Given the description of an element on the screen output the (x, y) to click on. 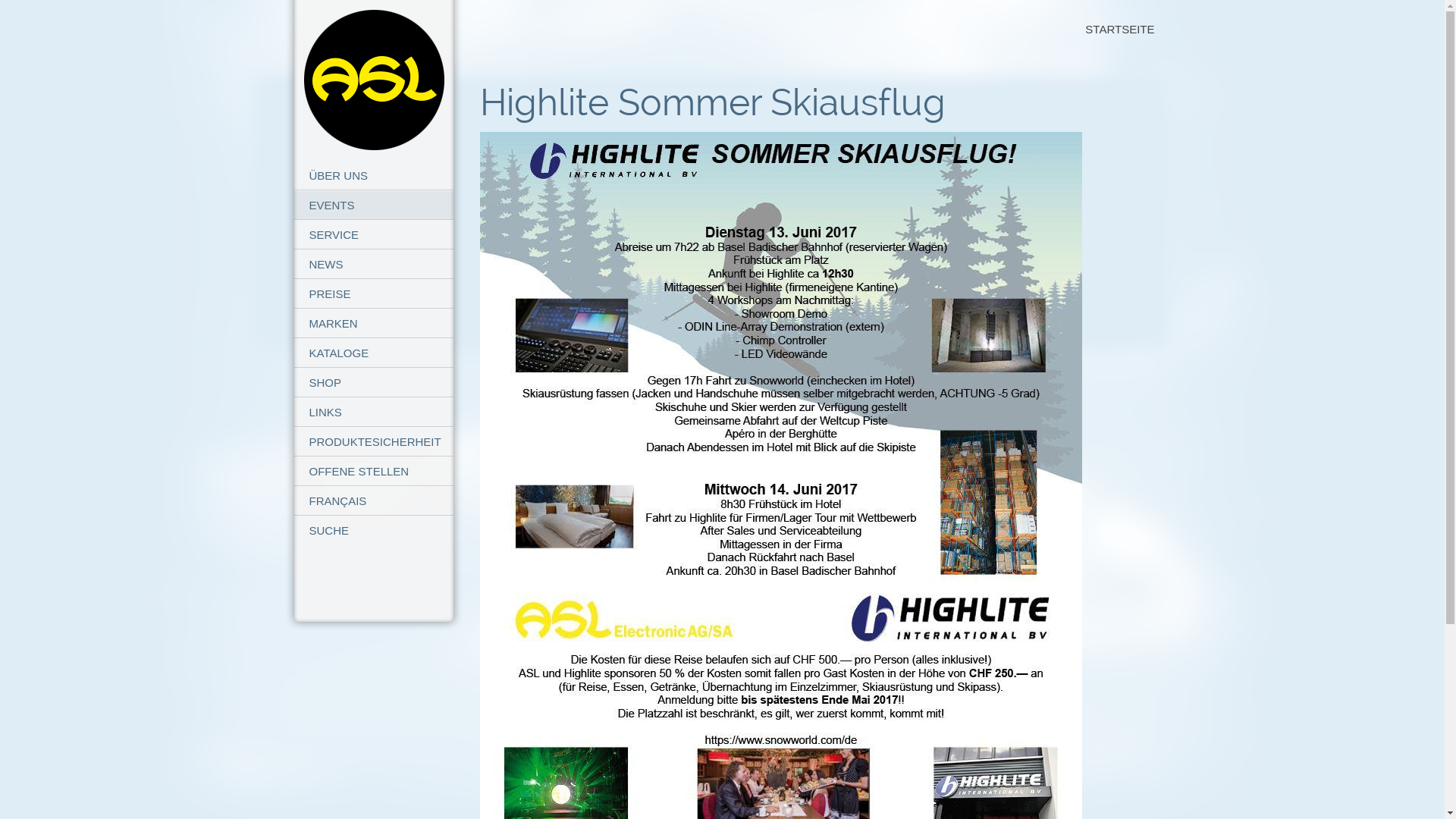
OFFENE STELLEN Element type: text (373, 471)
PRODUKTESICHERHEIT Element type: text (373, 441)
KATALOGE Element type: text (373, 352)
EVENTS Element type: text (373, 205)
SERVICE Element type: text (373, 234)
LINKS Element type: text (373, 412)
SUCHE Element type: text (373, 530)
MARKEN Element type: text (373, 323)
SHOP Element type: text (373, 382)
STARTSEITE Element type: text (1119, 28)
NEWS Element type: text (373, 264)
PREISE Element type: text (373, 293)
